Given the description of an element on the screen output the (x, y) to click on. 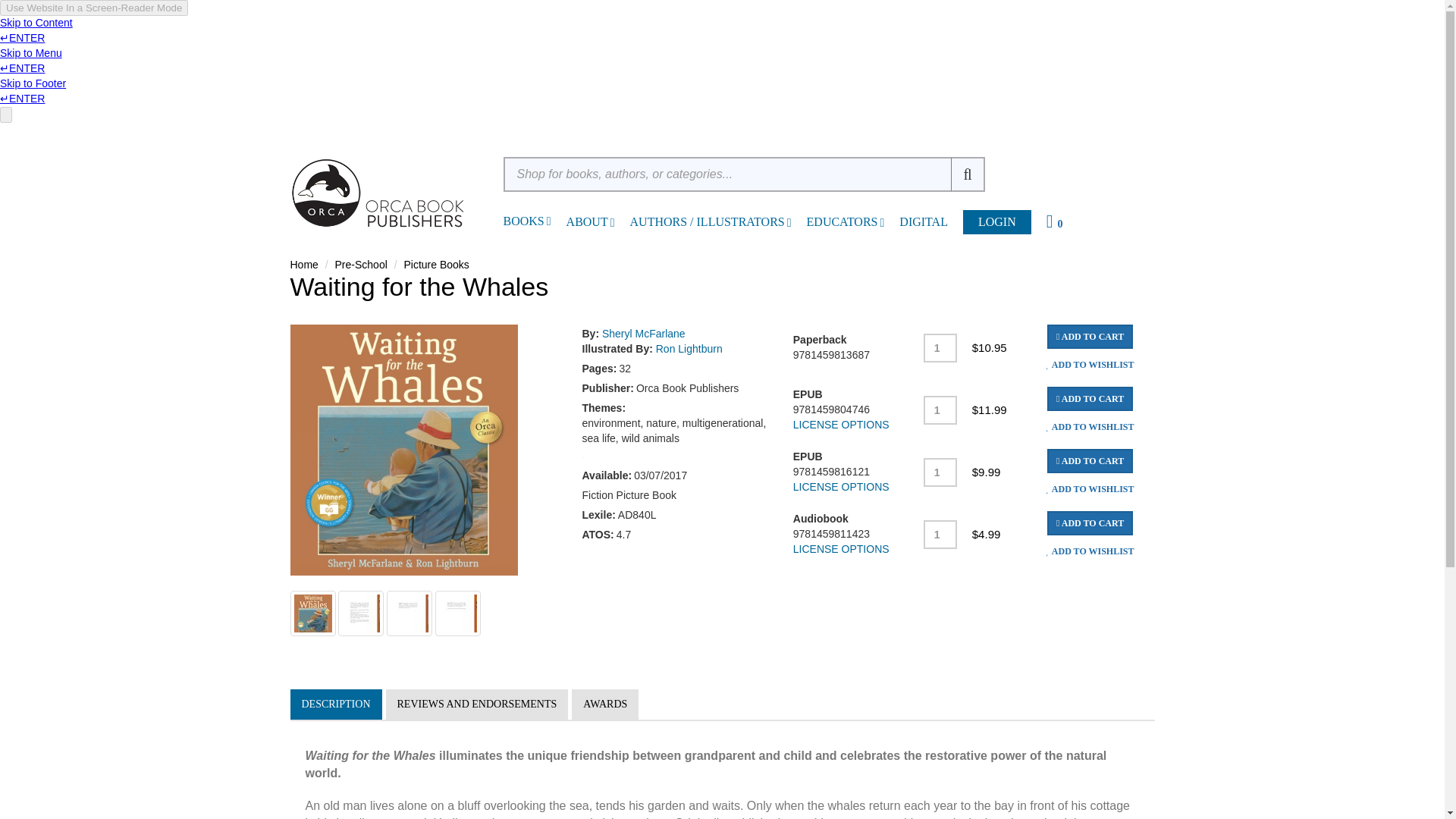
1 (939, 410)
Waiting for the Whales (457, 613)
1 (939, 471)
BOOKS (523, 220)
1 (939, 347)
1 (939, 534)
Waiting for the Whales (311, 613)
Waiting for the Whales (360, 613)
Waiting for the Whales (409, 613)
